Given the description of an element on the screen output the (x, y) to click on. 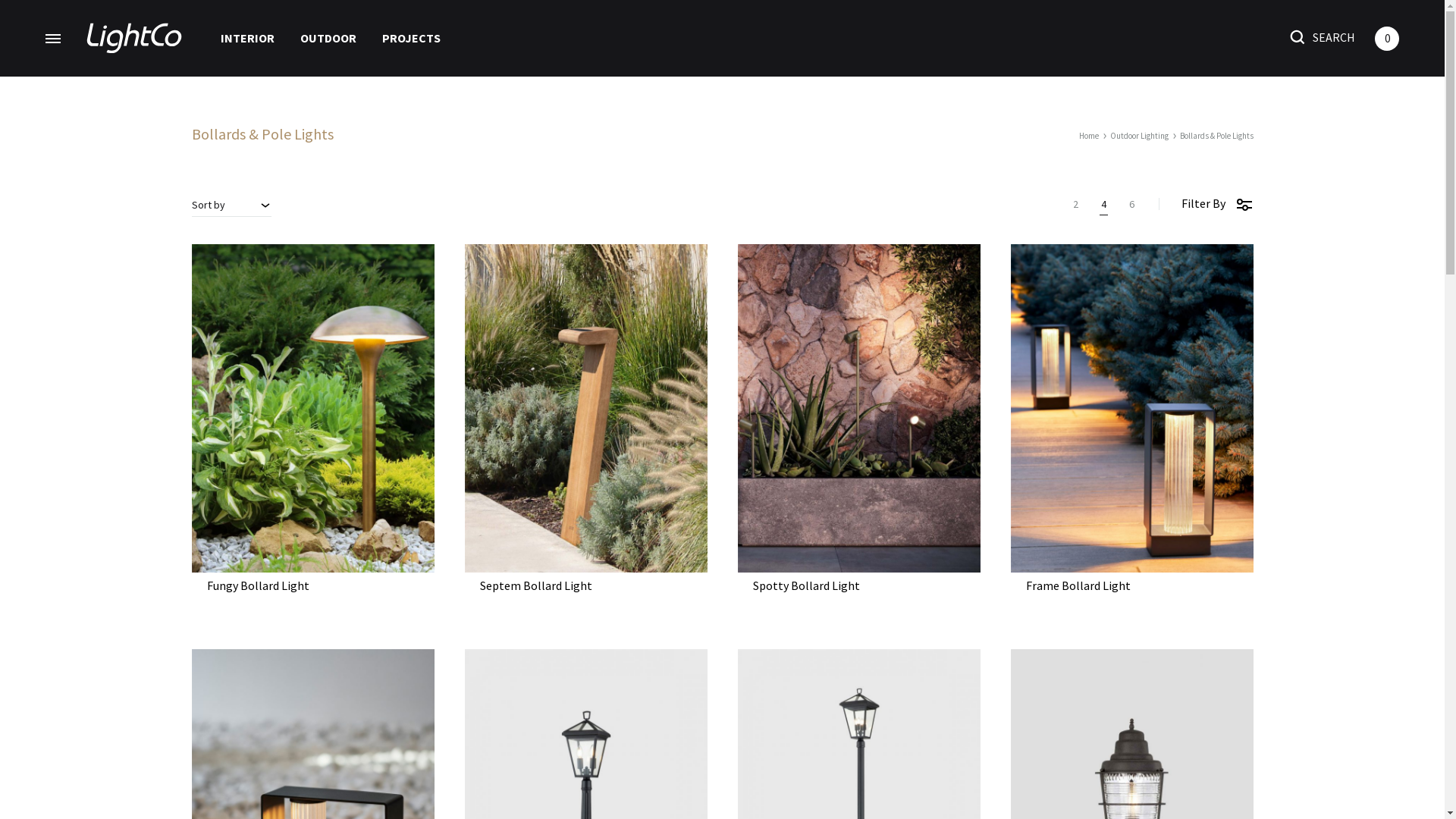
Fungy Bollard Light Element type: text (257, 585)
Septem Bollard Light Element type: text (535, 585)
Outdoor Lighting Element type: text (1139, 135)
PROJECTS Element type: text (411, 37)
6 Element type: text (1130, 203)
Spotty Bollard Light Element type: text (805, 585)
Home Element type: text (1088, 135)
Filter By Element type: text (1217, 203)
2 Element type: text (1074, 203)
0 Element type: text (1386, 37)
OUTDOOR Element type: text (328, 37)
Frame Bollard Light Element type: text (1077, 585)
INTERIOR Element type: text (247, 37)
